Given the description of an element on the screen output the (x, y) to click on. 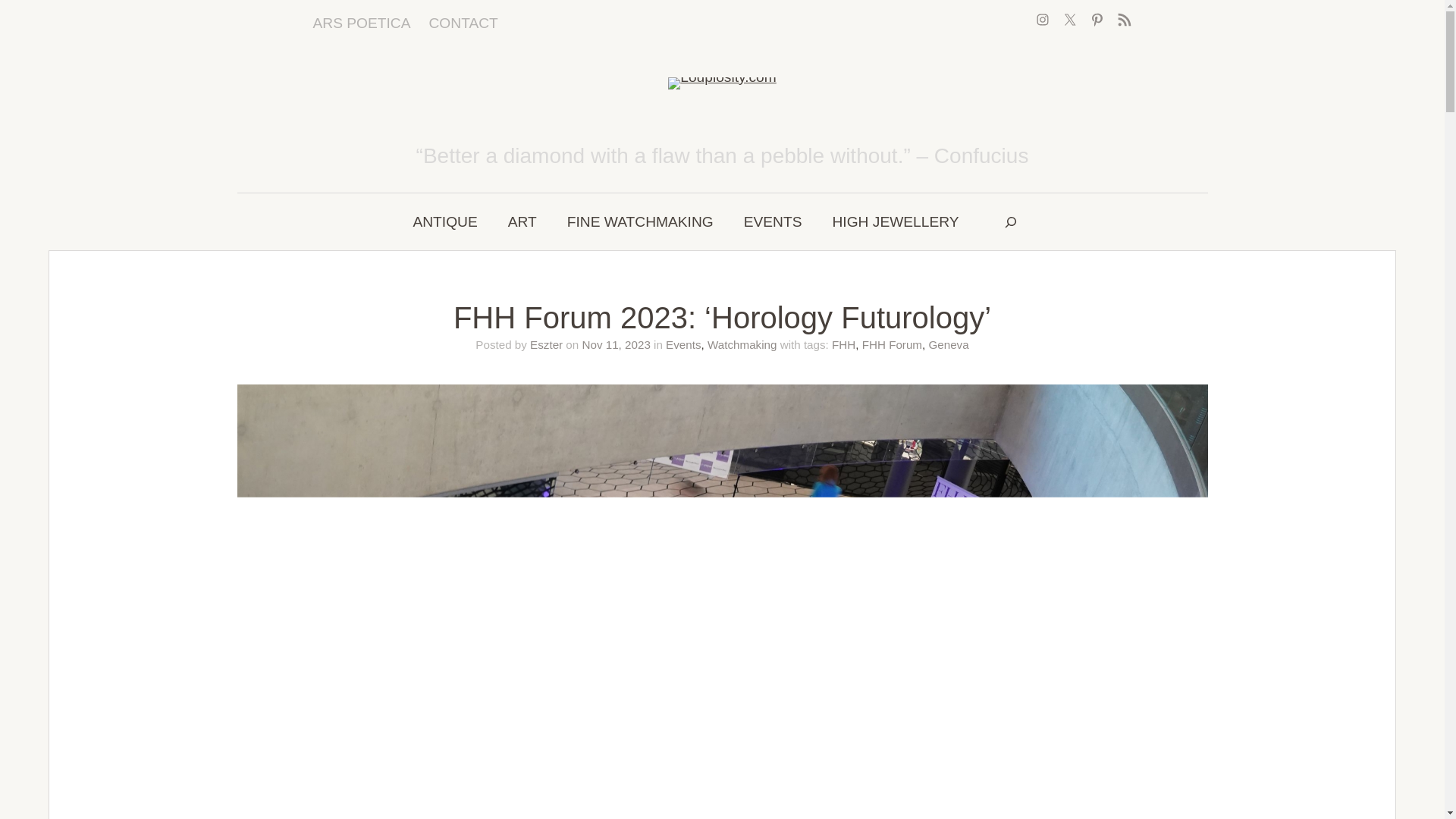
FINE WATCHMAKING (640, 221)
FHH Forum (891, 344)
HIGH JEWELLERY (894, 221)
Watchmaking (741, 344)
Geneva (948, 344)
CONTACT (463, 23)
Pinterest (1096, 19)
X (1069, 19)
ARS POETICA (361, 23)
ART (522, 221)
